Given the description of an element on the screen output the (x, y) to click on. 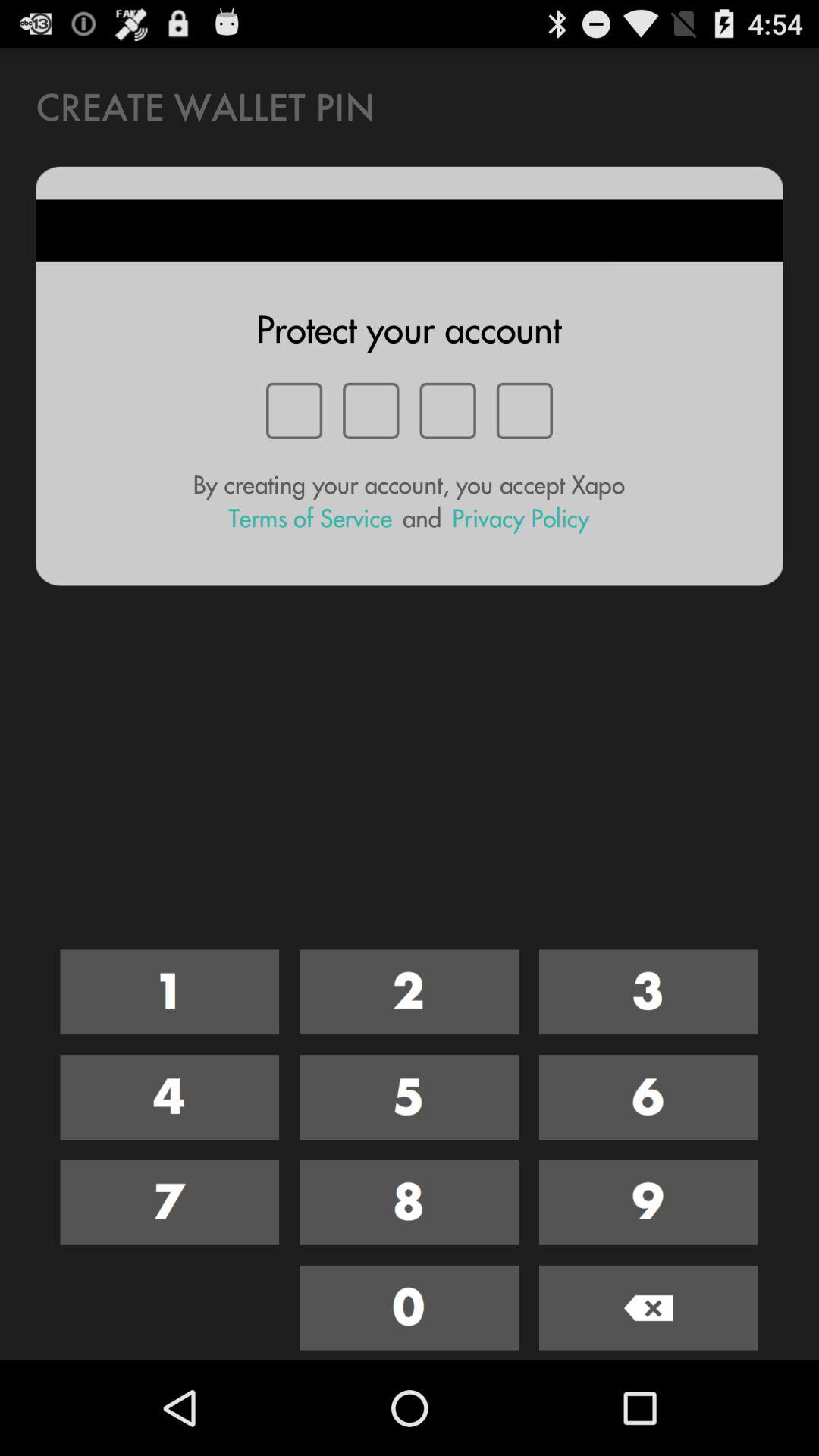
backspace (648, 1307)
